Given the description of an element on the screen output the (x, y) to click on. 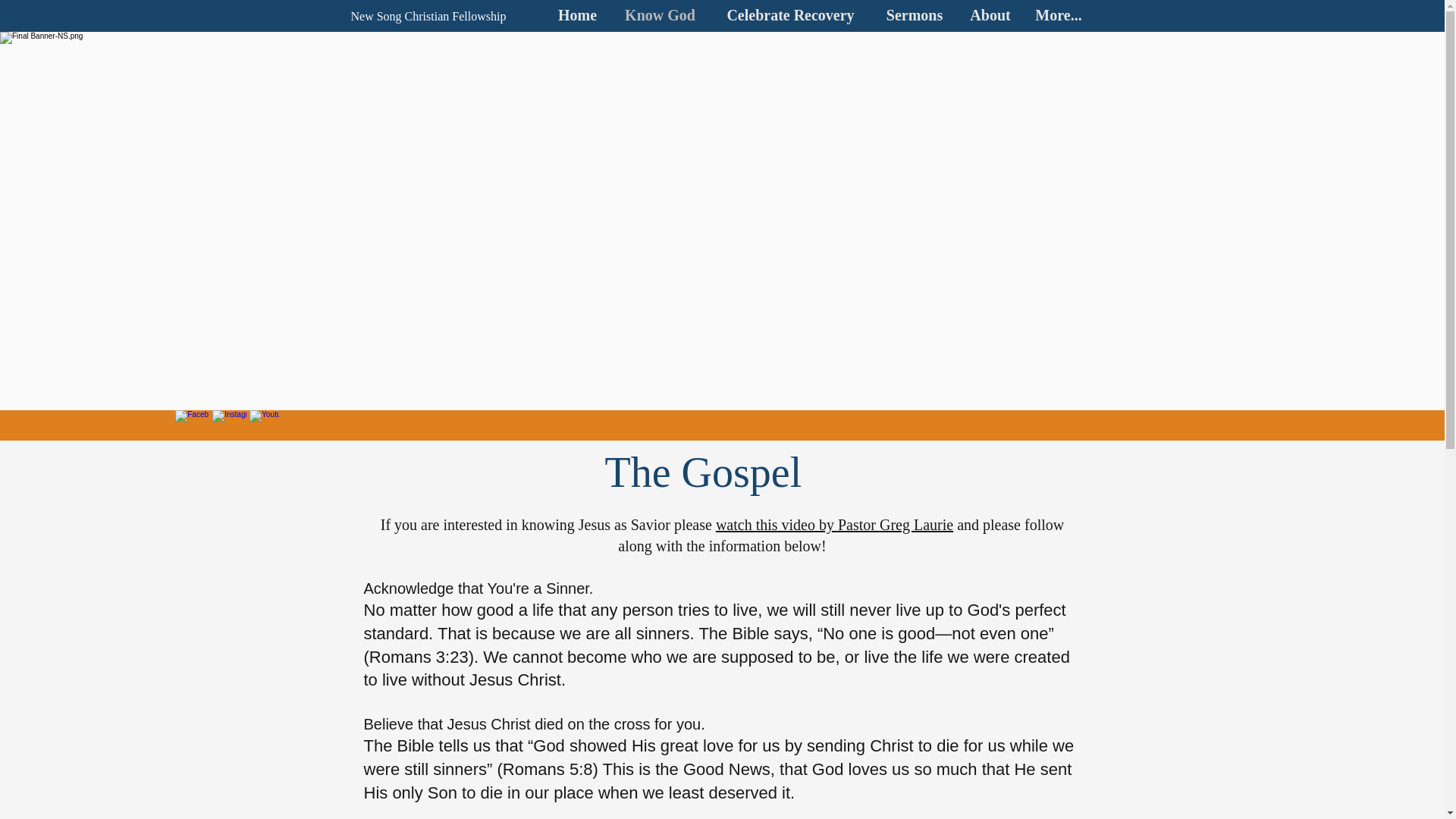
watch this video by Pastor Greg Laurie (834, 524)
Home (577, 15)
Celebrate Recovery (791, 15)
Know God (660, 15)
About (989, 15)
Sermons (915, 15)
